Given the description of an element on the screen output the (x, y) to click on. 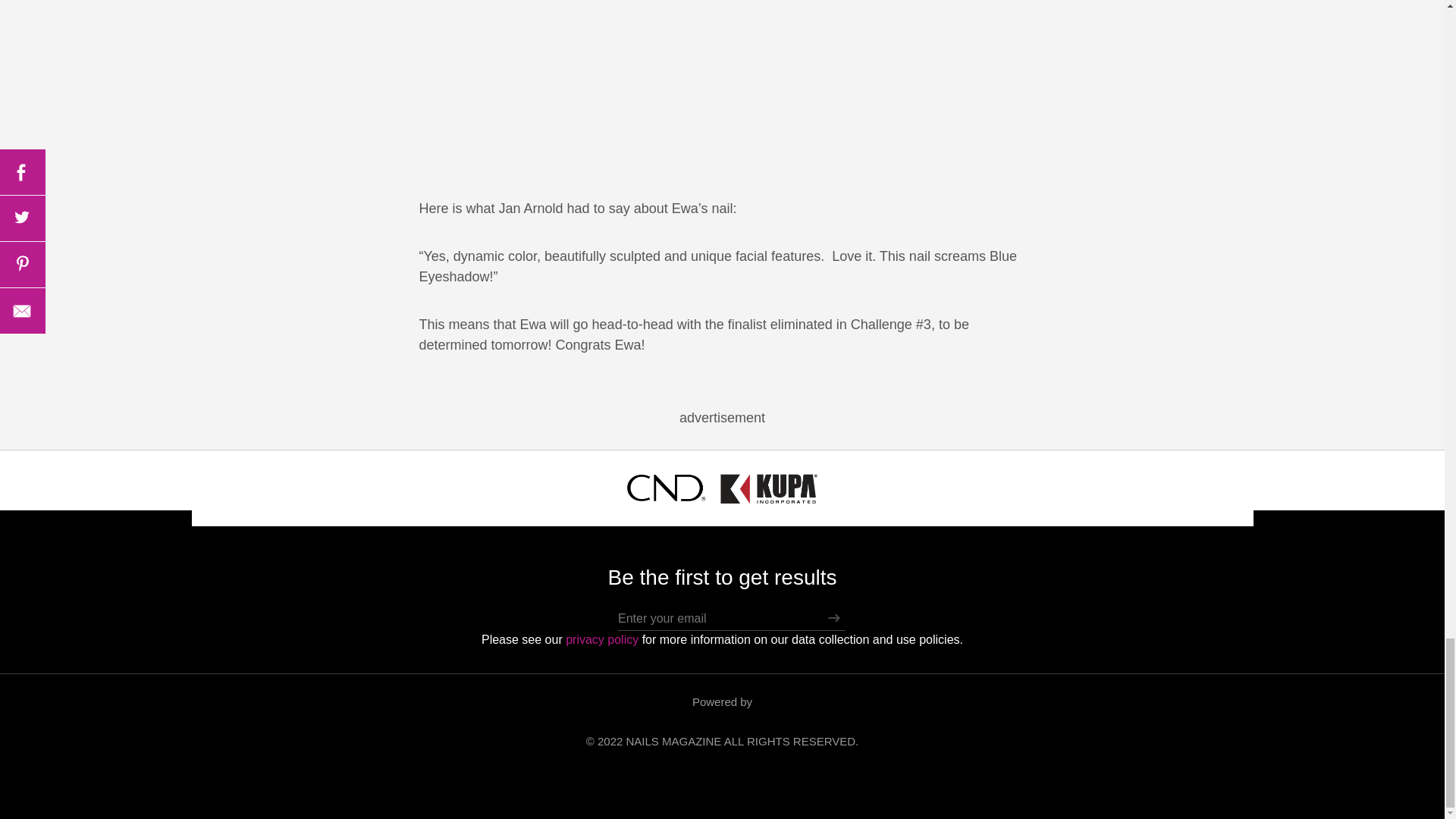
privacy policy (602, 639)
